Given the description of an element on the screen output the (x, y) to click on. 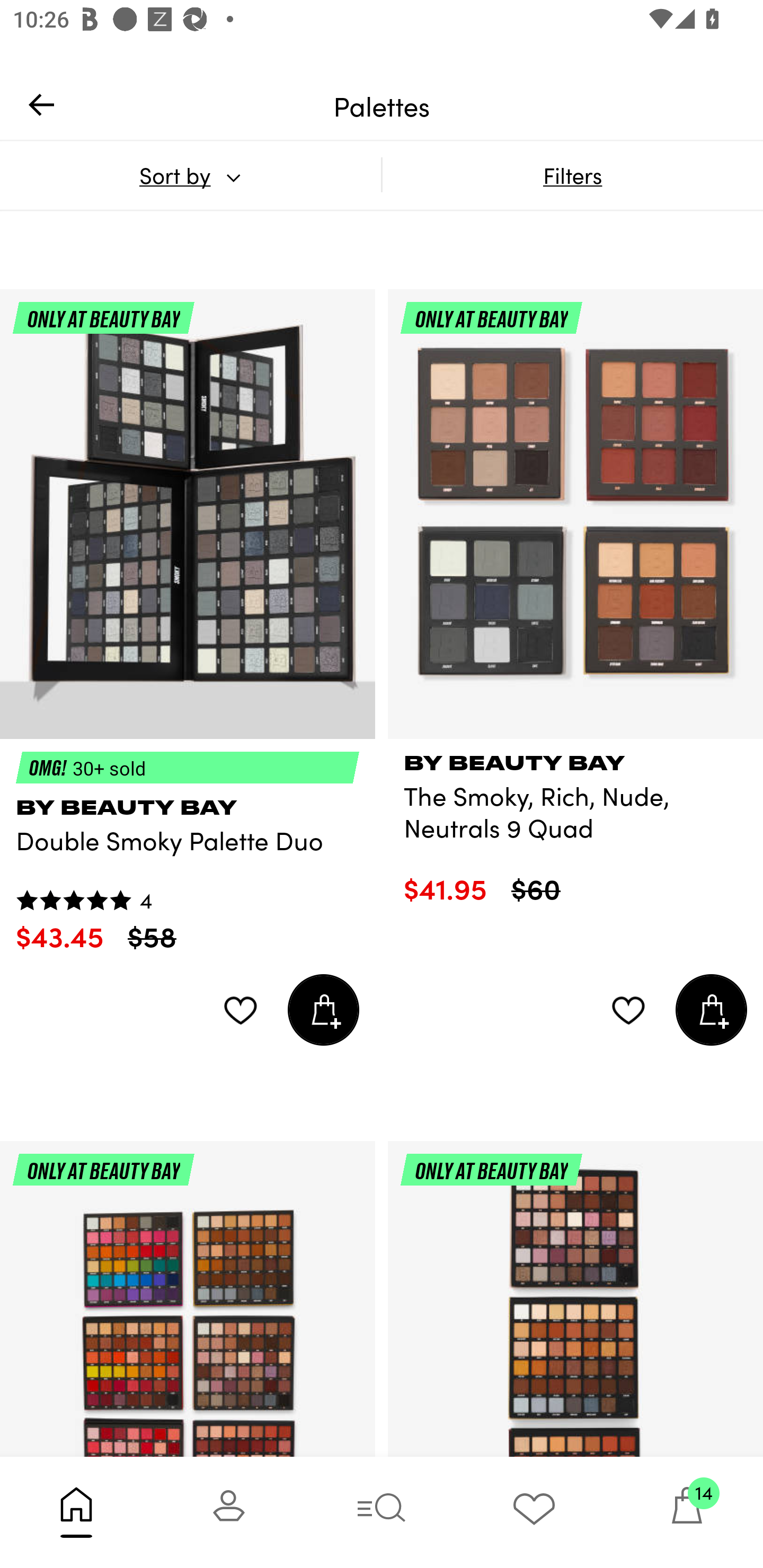
Sort by (190, 174)
Filters (572, 174)
14 (686, 1512)
